Given the description of an element on the screen output the (x, y) to click on. 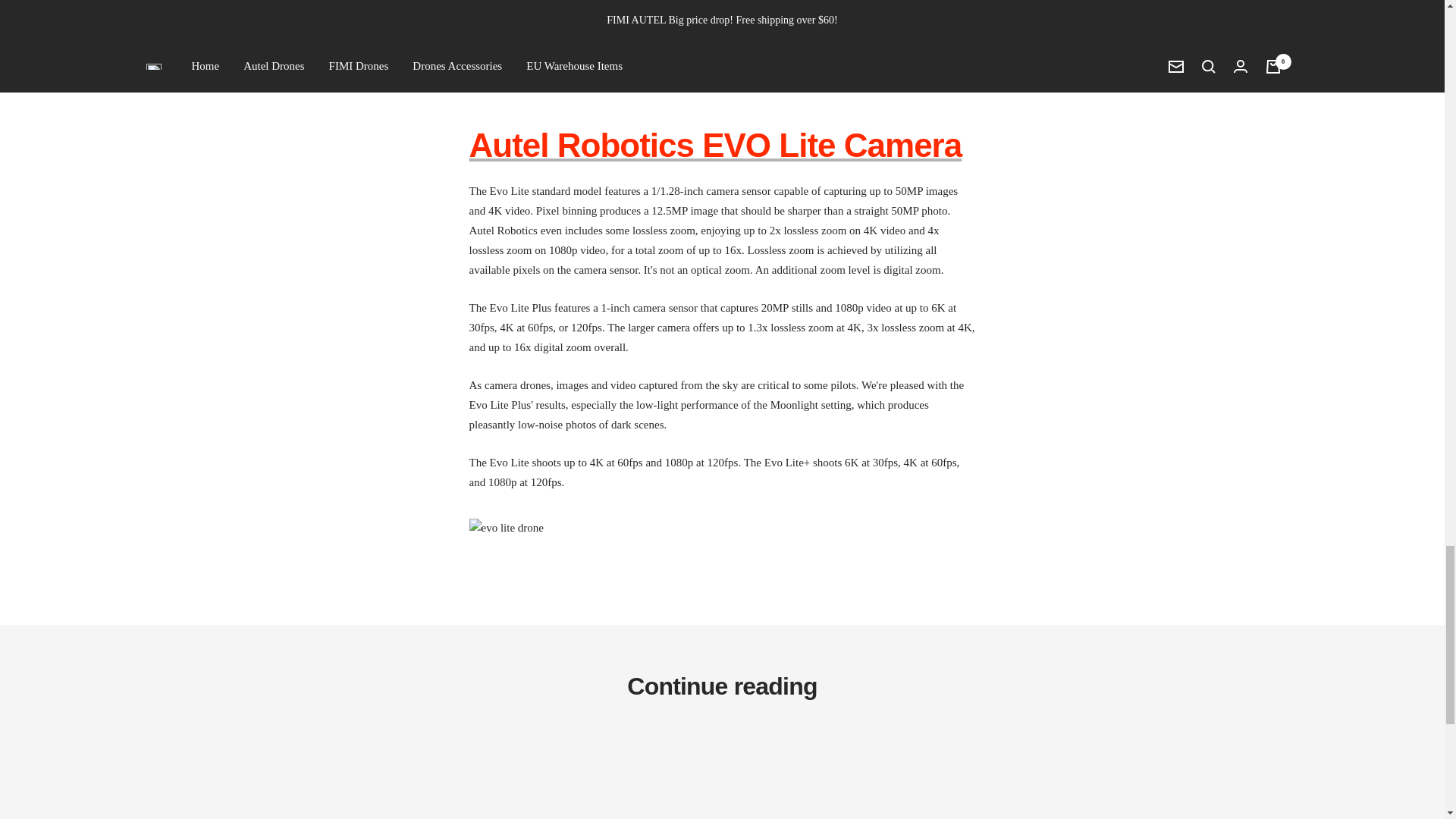
auel lite drone (714, 144)
